Given the description of an element on the screen output the (x, y) to click on. 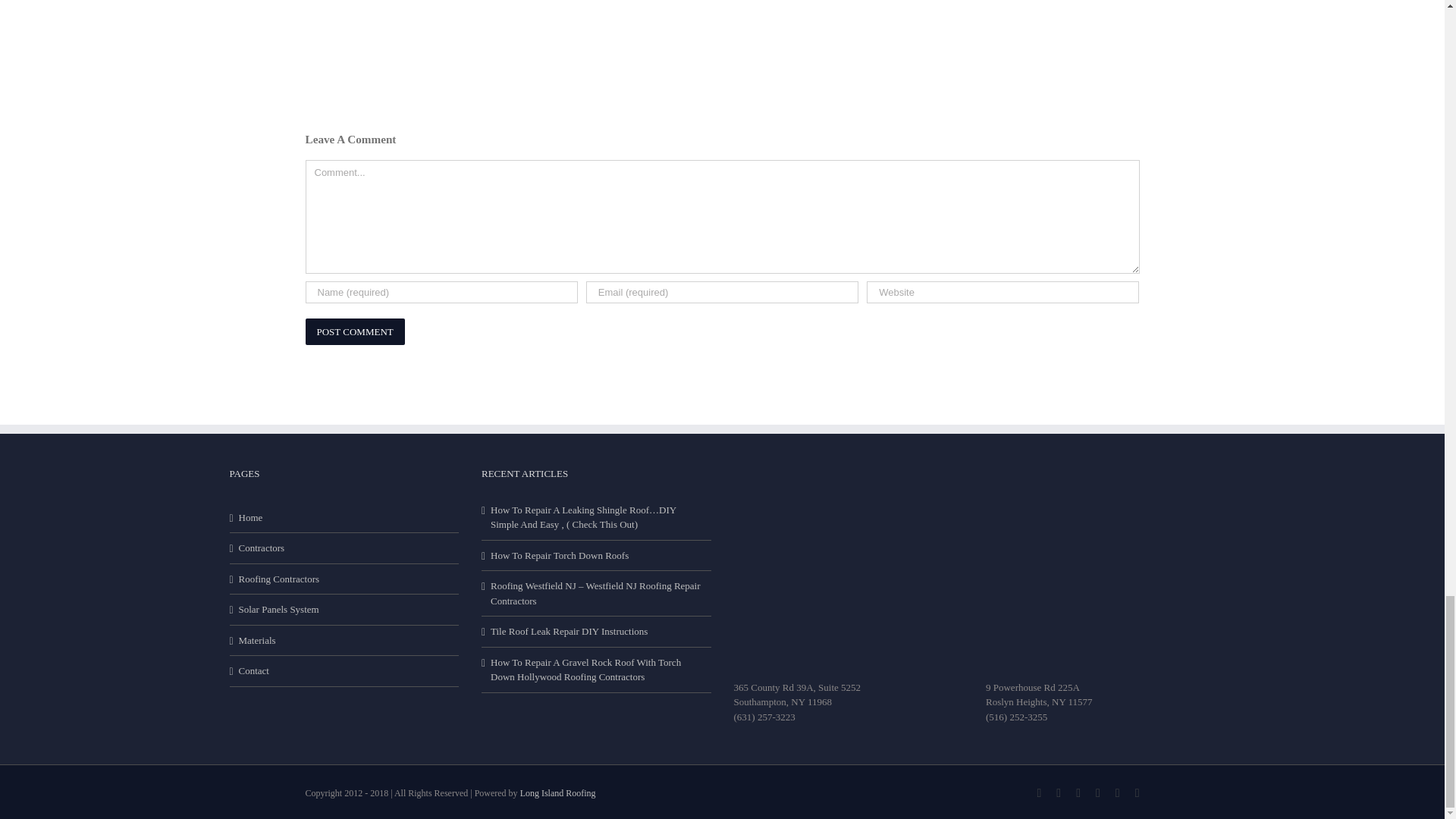
Post Comment (354, 331)
